Given the description of an element on the screen output the (x, y) to click on. 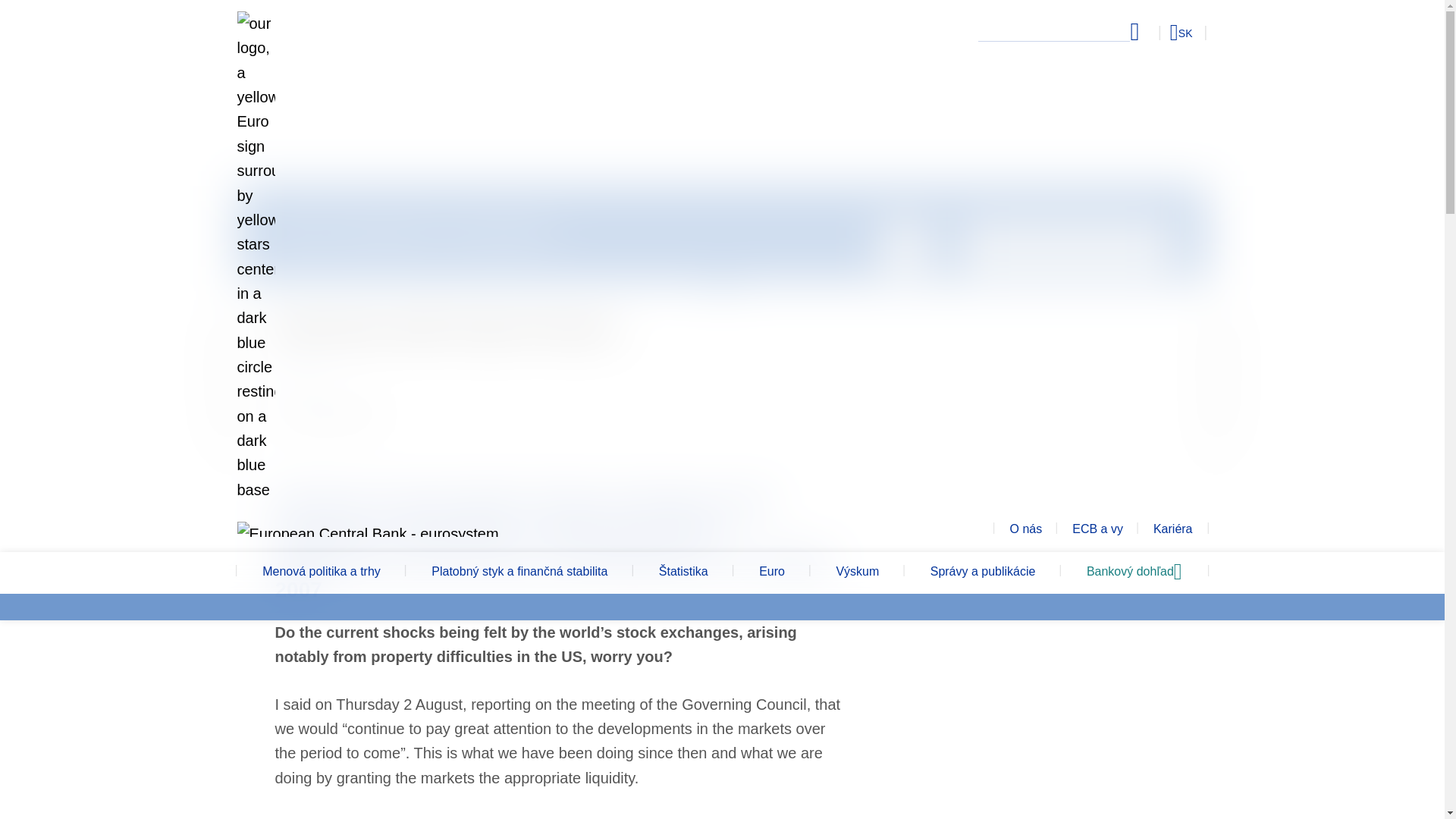
Select language (1153, 32)
